Given the description of an element on the screen output the (x, y) to click on. 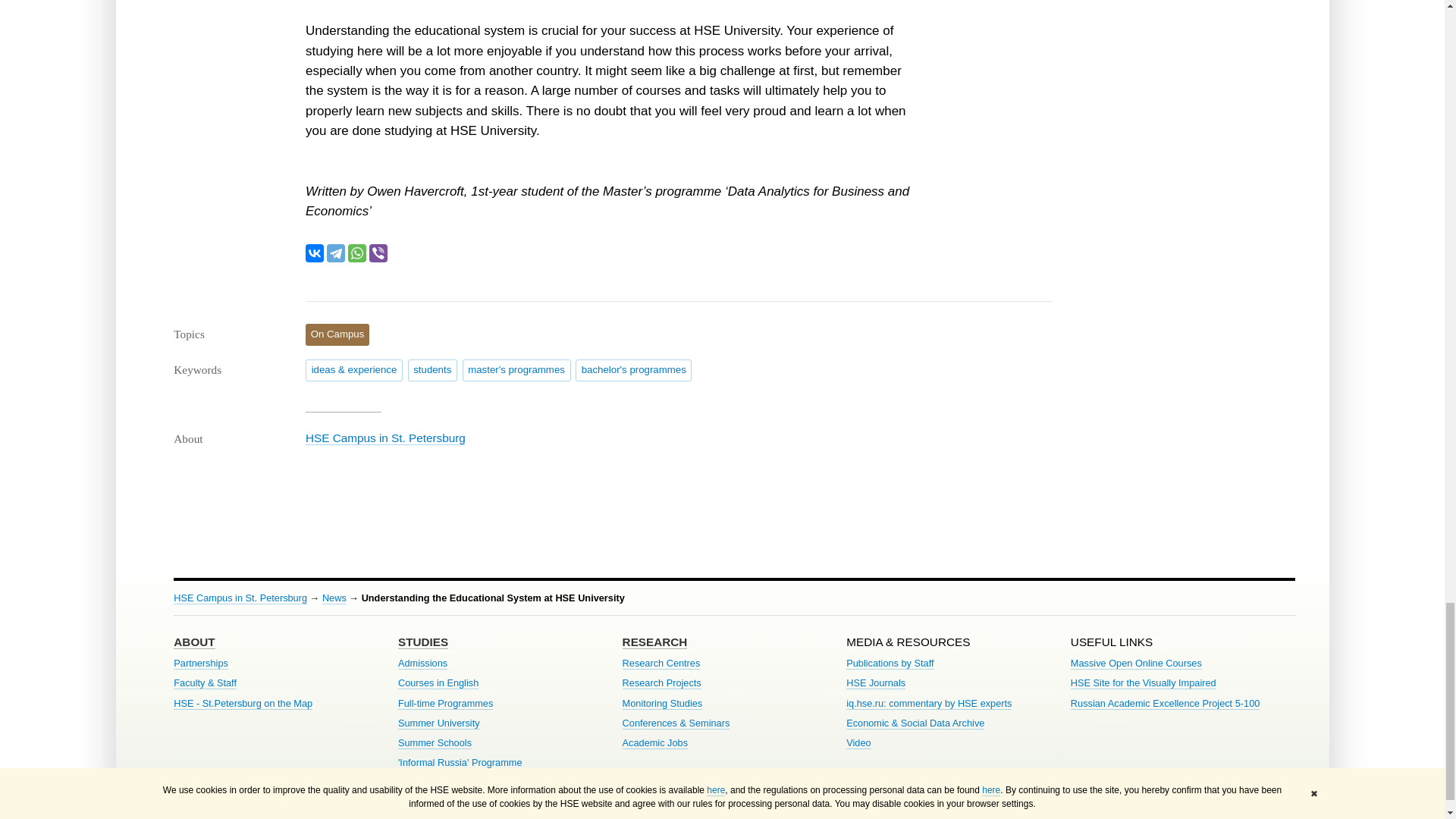
Telegram (335, 253)
WhatsApp (356, 253)
VKontakte (314, 253)
Viber (378, 253)
